Given the description of an element on the screen output the (x, y) to click on. 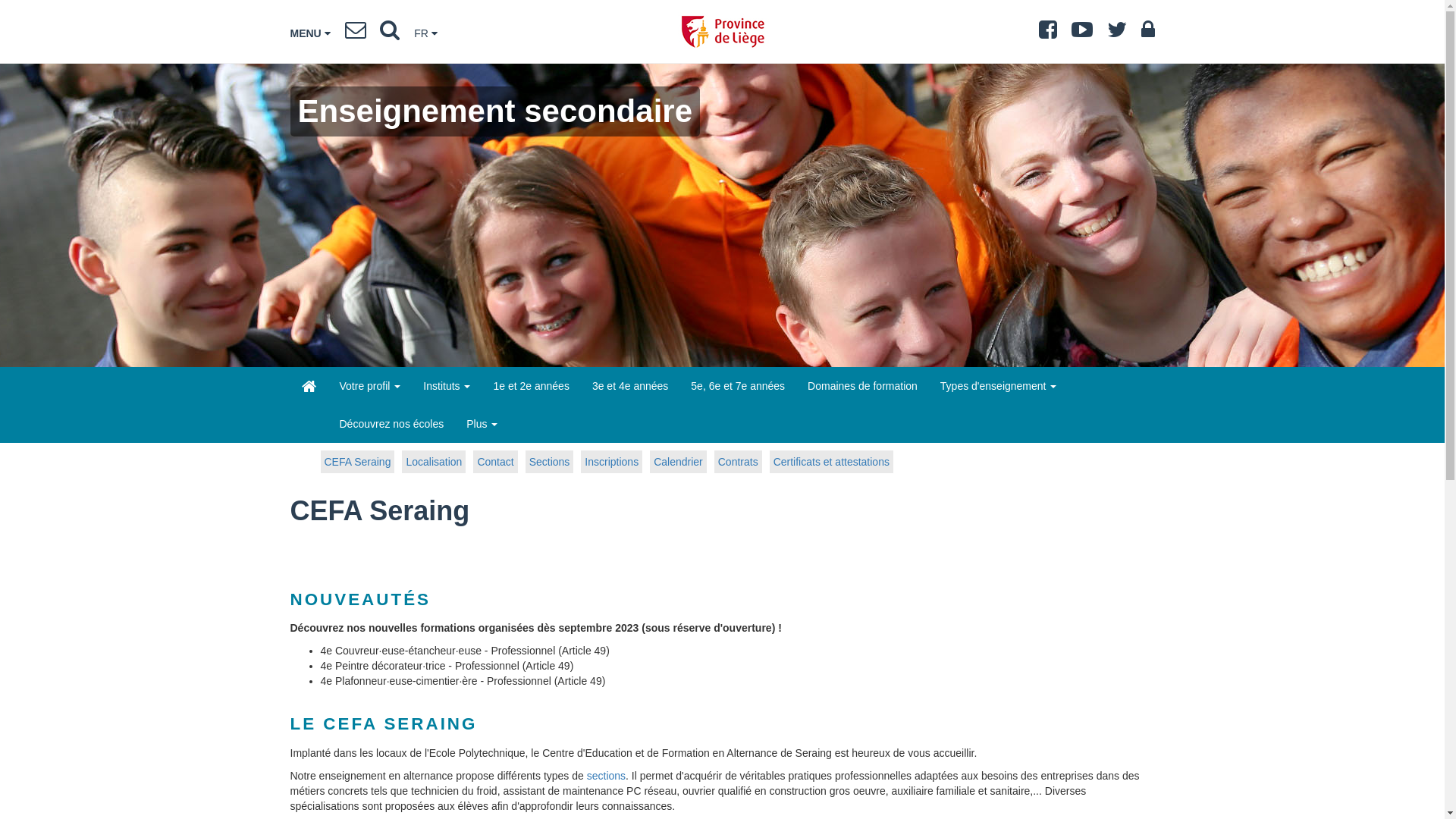
Inscriptions Element type: text (611, 461)
Aller sur notre page Facebook Element type: hover (1047, 33)
Votre profil Element type: text (369, 385)
Domaines de formation Element type: text (862, 385)
Aller sur le site Ma Province Element type: hover (1147, 33)
Enseignement secondaire Element type: hover (308, 386)
Contact Element type: hover (355, 33)
Calendrier Element type: text (677, 461)
Contact Element type: text (495, 461)
MENU Element type: text (309, 33)
Instituts Element type: text (446, 385)
FR Element type: text (425, 33)
Plus Element type: text (481, 423)
Localisation Element type: text (433, 461)
Sections Element type: text (549, 461)
CEFA Seraing Element type: text (357, 461)
Recherche Element type: hover (389, 33)
Contrats Element type: text (738, 461)
sections Element type: text (605, 775)
Types d'enseignement Element type: text (998, 385)
Aller sur notre compte Twitter Element type: hover (1116, 33)
Certificats et attestations Element type: text (831, 461)
